Given the description of an element on the screen output the (x, y) to click on. 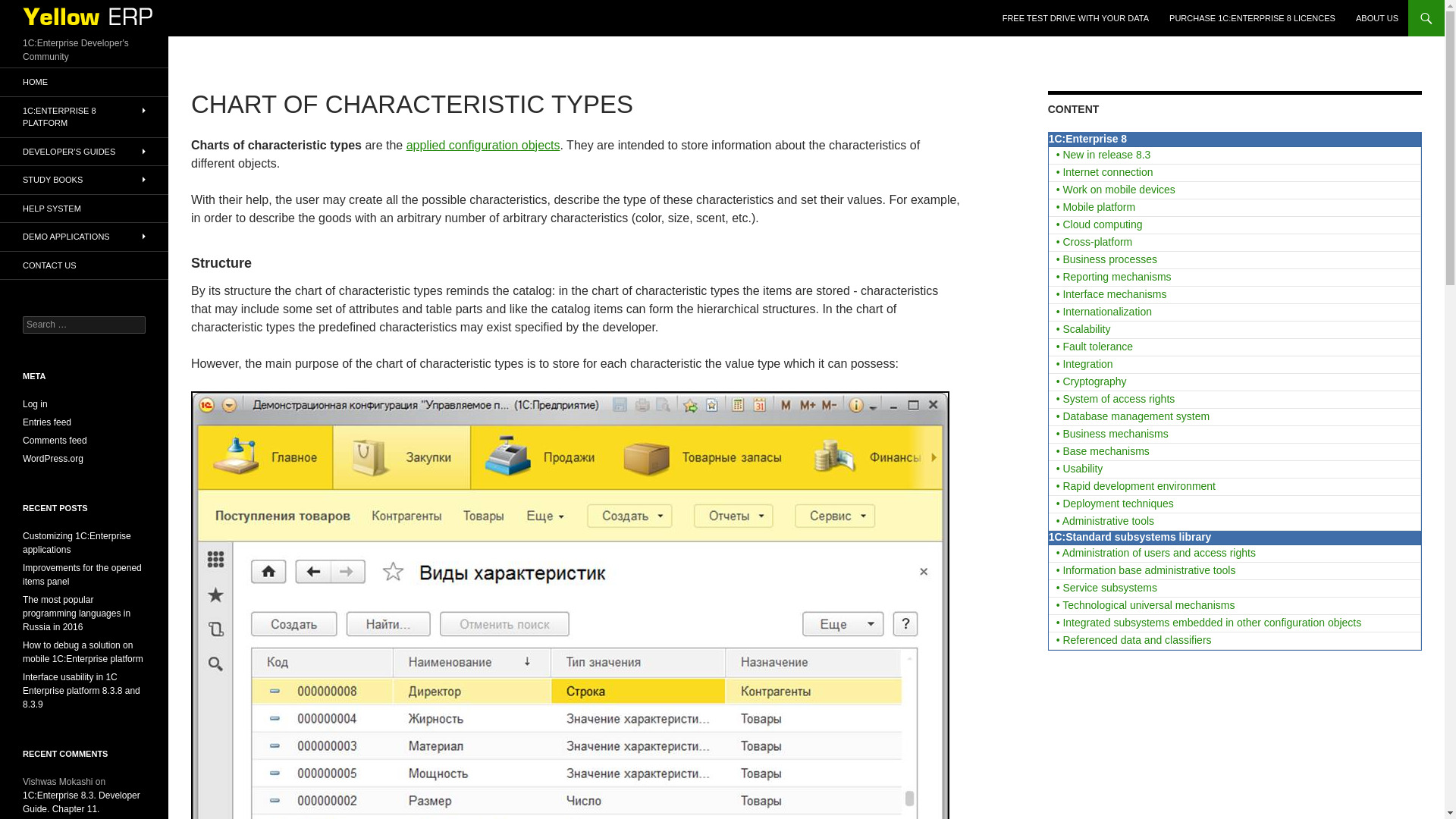
applied configuration objects (483, 144)
ABOUT US (1376, 18)
FREE TEST DRIVE WITH YOUR DATA (1074, 18)
PURCHASE 1C:ENTERPRISE 8 LICENCES (1251, 18)
